Given the description of an element on the screen output the (x, y) to click on. 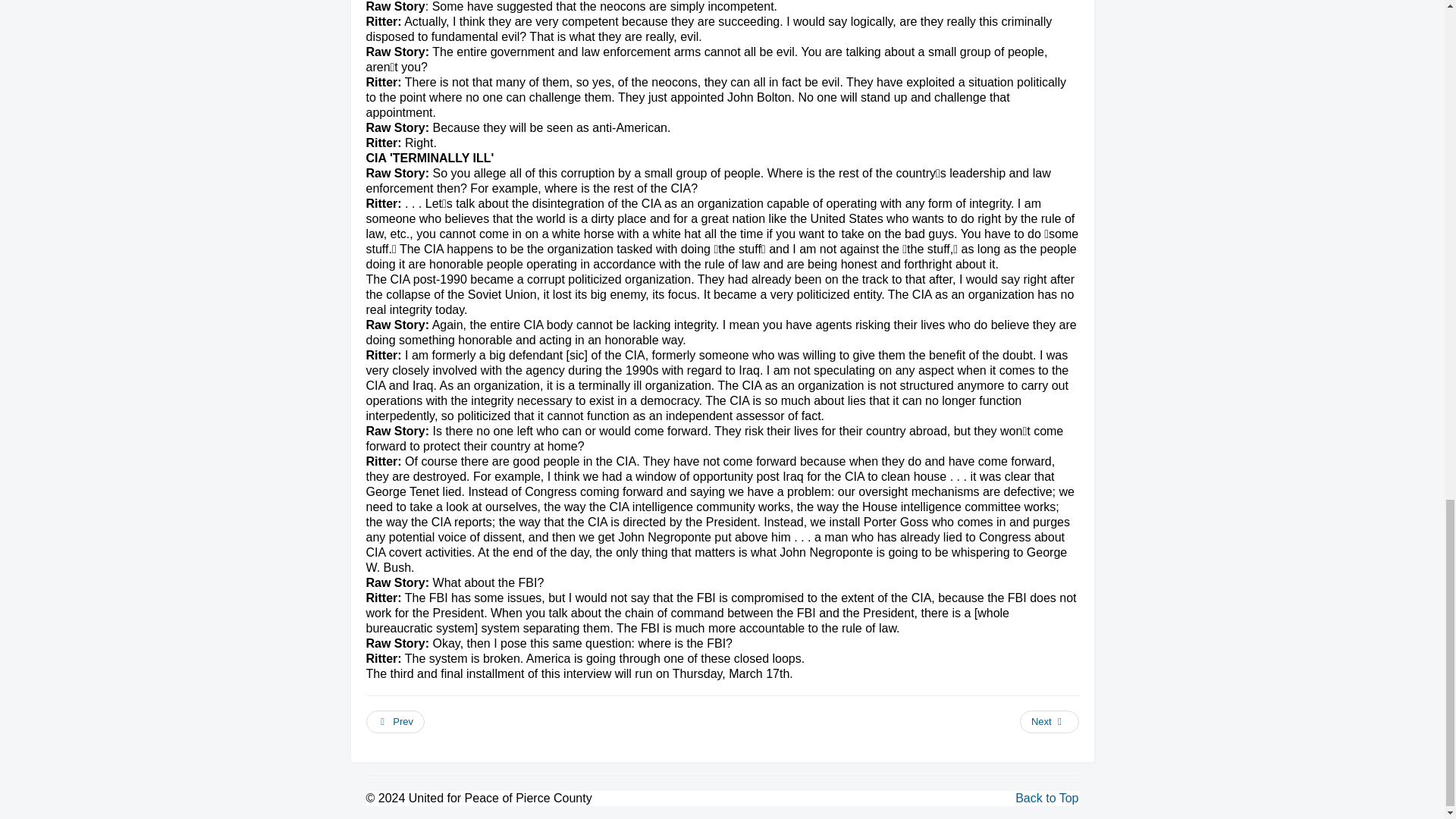
Back to Top (1046, 797)
Next (1049, 721)
Prev (395, 721)
